Given the description of an element on the screen output the (x, y) to click on. 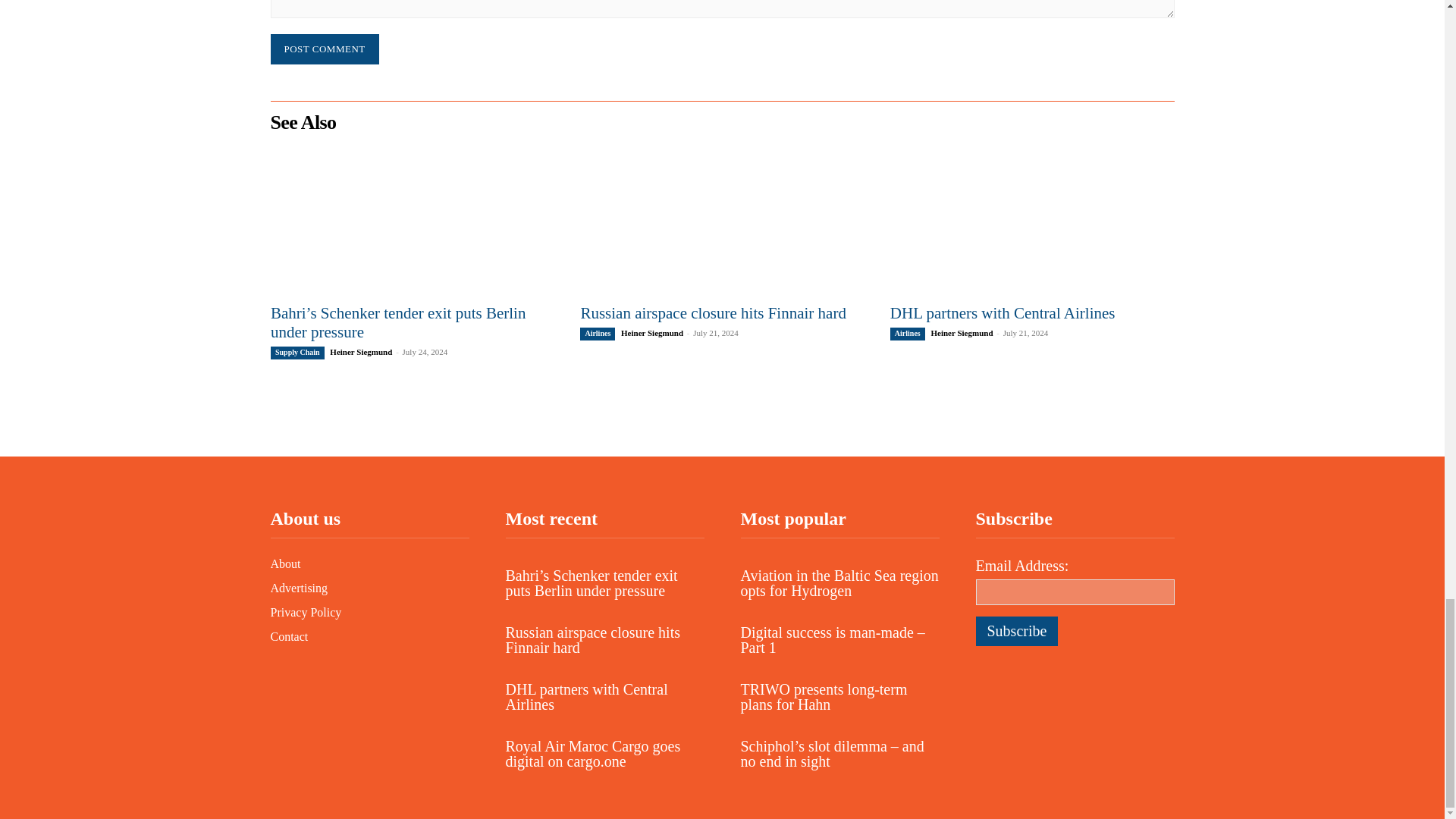
Subscribe (1016, 631)
Post Comment (323, 49)
